Given the description of an element on the screen output the (x, y) to click on. 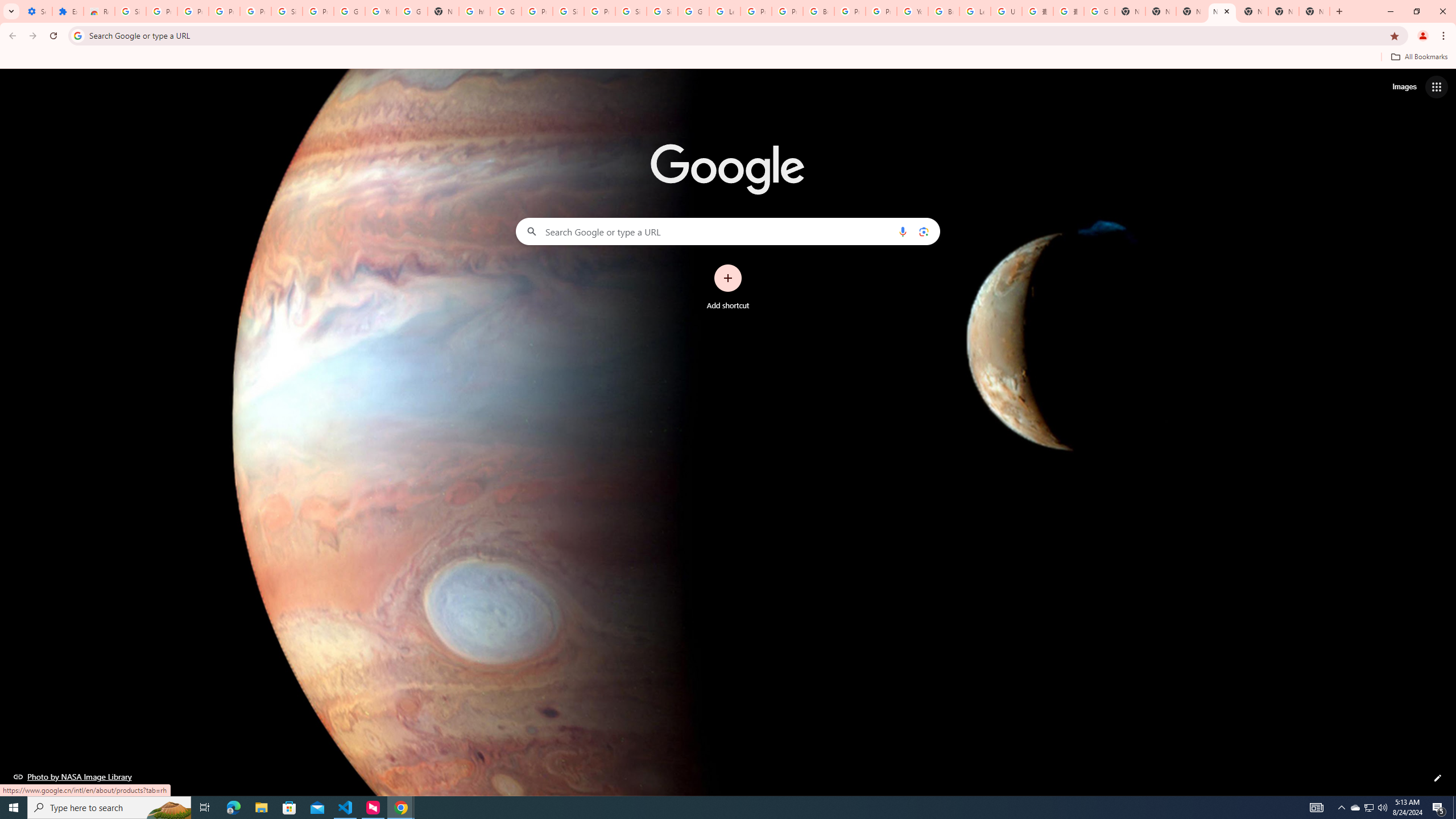
Privacy Help Center - Policies Help (756, 11)
Sign in - Google Accounts (631, 11)
New Tab (1222, 11)
https://scholar.google.com/ (474, 11)
Settings - On startup (36, 11)
Sign in - Google Accounts (662, 11)
Privacy Help Center - Policies Help (787, 11)
Bookmarks (728, 58)
